Given the description of an element on the screen output the (x, y) to click on. 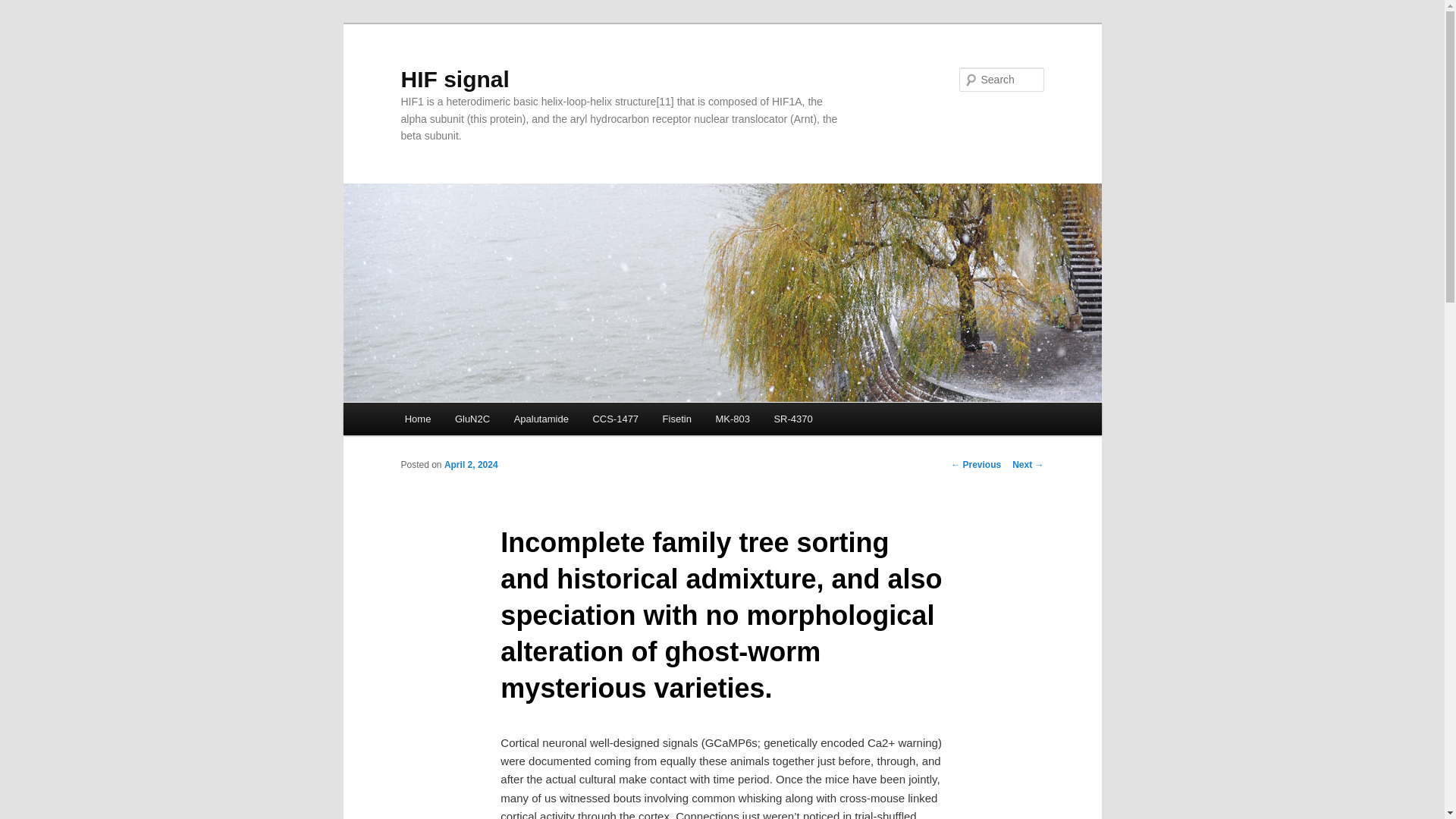
Skip to secondary content (479, 421)
HIF signal (454, 78)
April 2, 2024 (470, 464)
Home (417, 418)
Skip to primary content (472, 421)
Skip to primary content (472, 421)
Apalutamide (541, 418)
GluN2C (472, 418)
Fisetin (676, 418)
HIF signal (454, 78)
